Given the description of an element on the screen output the (x, y) to click on. 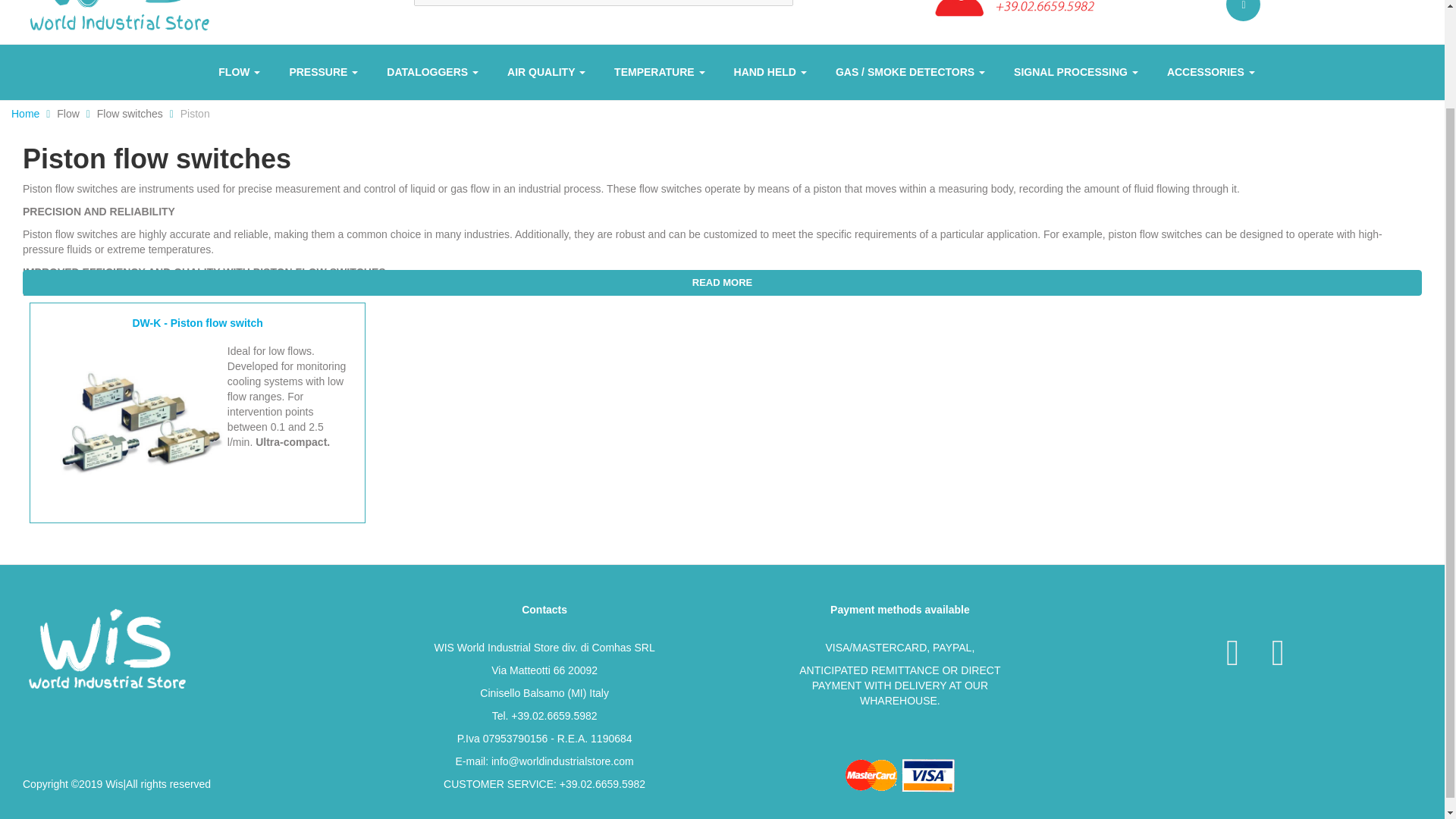
Home (117, 19)
PRESSURE (323, 72)
0 (1242, 10)
